Given the description of an element on the screen output the (x, y) to click on. 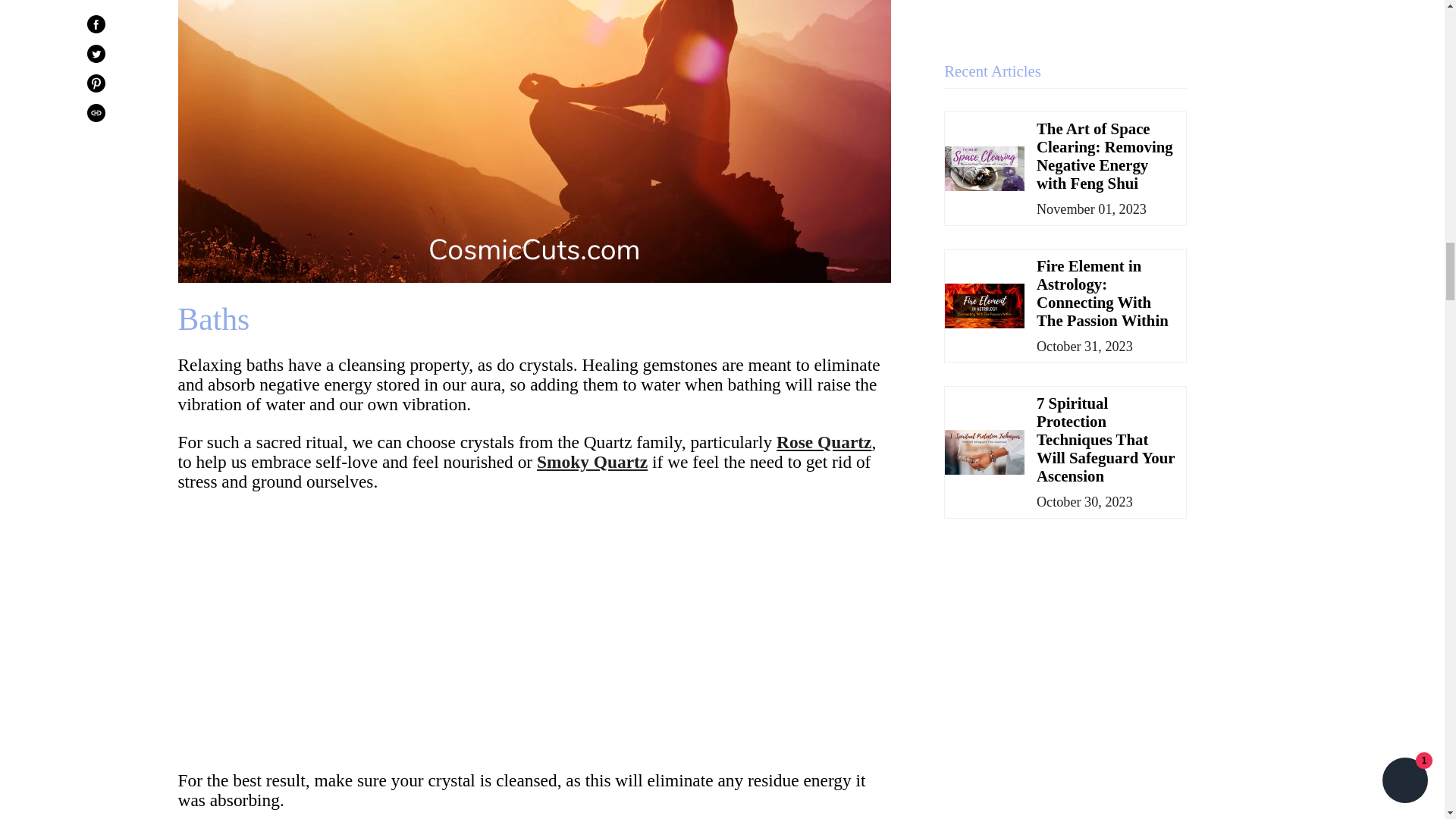
Rose Quartz (823, 442)
